Given the description of an element on the screen output the (x, y) to click on. 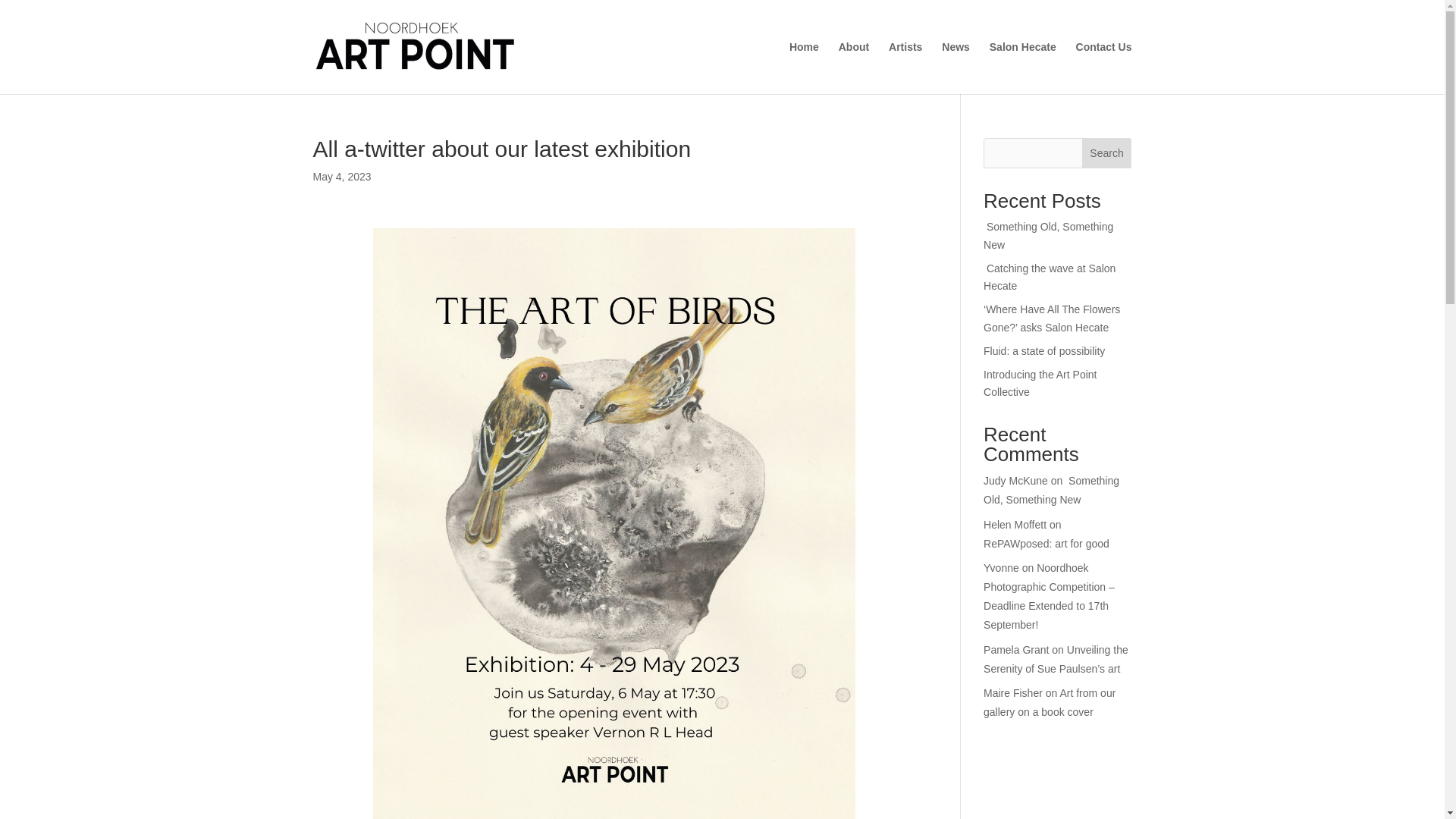
 Something Old, Something New (1048, 235)
Contact Us (1103, 67)
Salon Hecate (1023, 67)
Fluid: a state of possibility (1044, 350)
 Catching the wave at Salon Hecate (1049, 277)
Home (803, 67)
 Something Old, Something New (1051, 490)
Search (1106, 153)
About (853, 67)
News (955, 67)
Introducing the Art Point Collective (1040, 383)
RePAWposed: art for good  (1048, 543)
Artists (904, 67)
Helen Moffett (1015, 524)
Art from our gallery on a book cover (1049, 702)
